Given the description of an element on the screen output the (x, y) to click on. 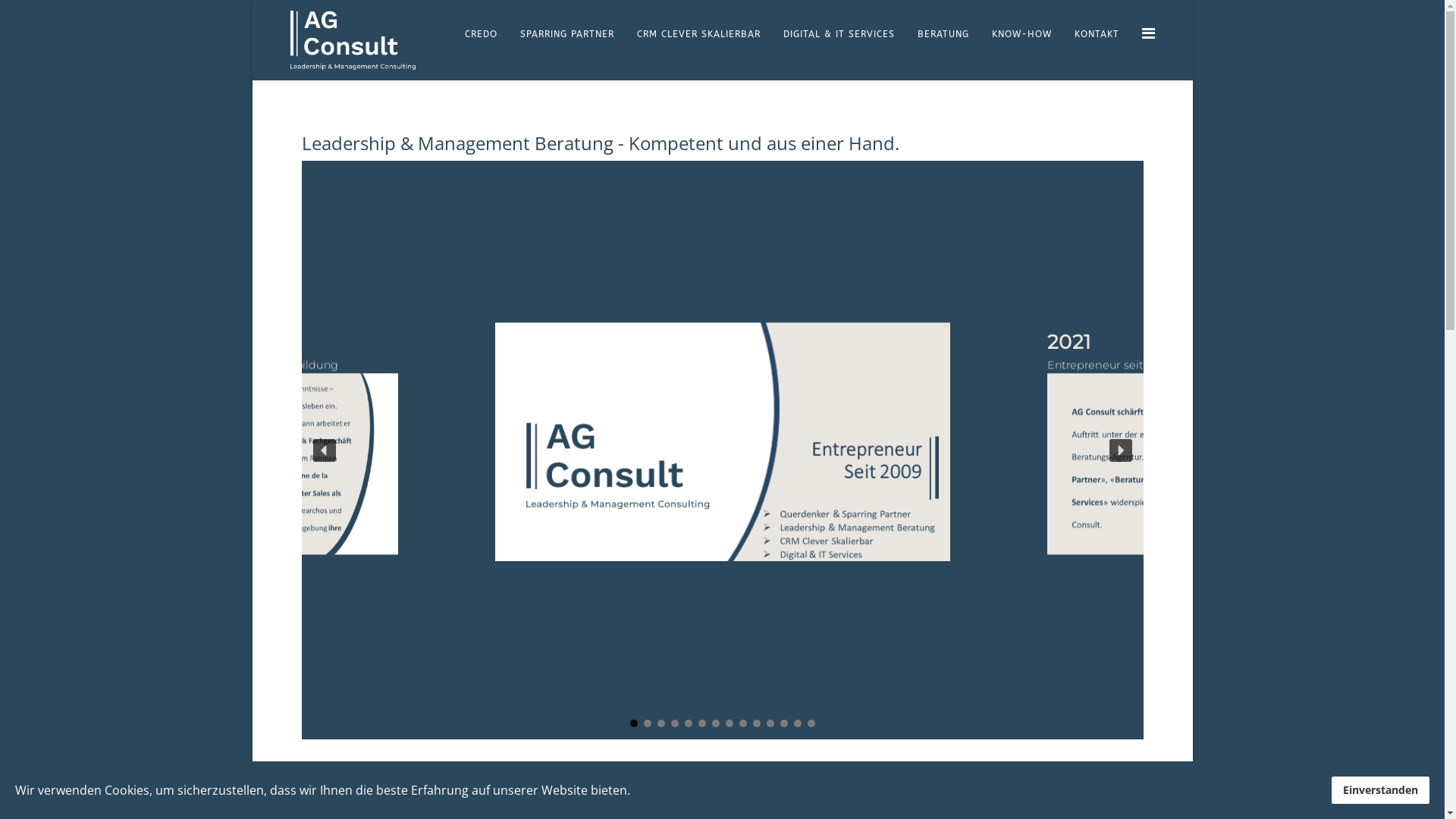
KONTAKT Element type: text (1096, 34)
CRM CLEVER SKALIERBAR Element type: text (697, 34)
KNOW-HOW Element type: text (1020, 34)
SPARRING PARTNER Element type: text (566, 34)
Einverstanden Element type: text (1380, 789)
DIGITAL & IT SERVICES Element type: text (838, 34)
BERATUNG Element type: text (942, 34)
Menu Element type: hover (1148, 32)
CREDO Element type: text (480, 34)
